Given the description of an element on the screen output the (x, y) to click on. 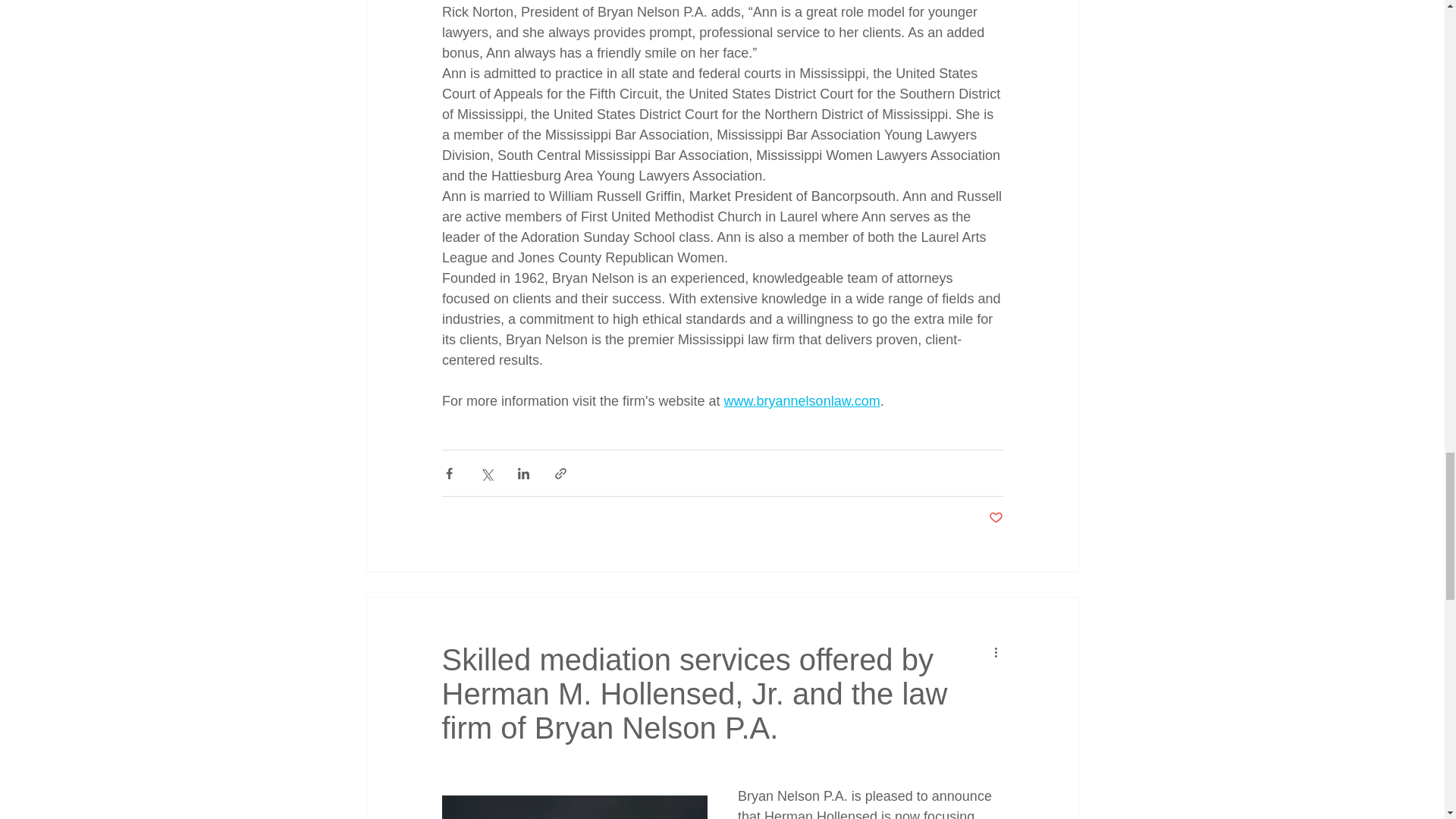
Post not marked as liked (995, 518)
www.bryannelsonlaw.com (801, 400)
